Given the description of an element on the screen output the (x, y) to click on. 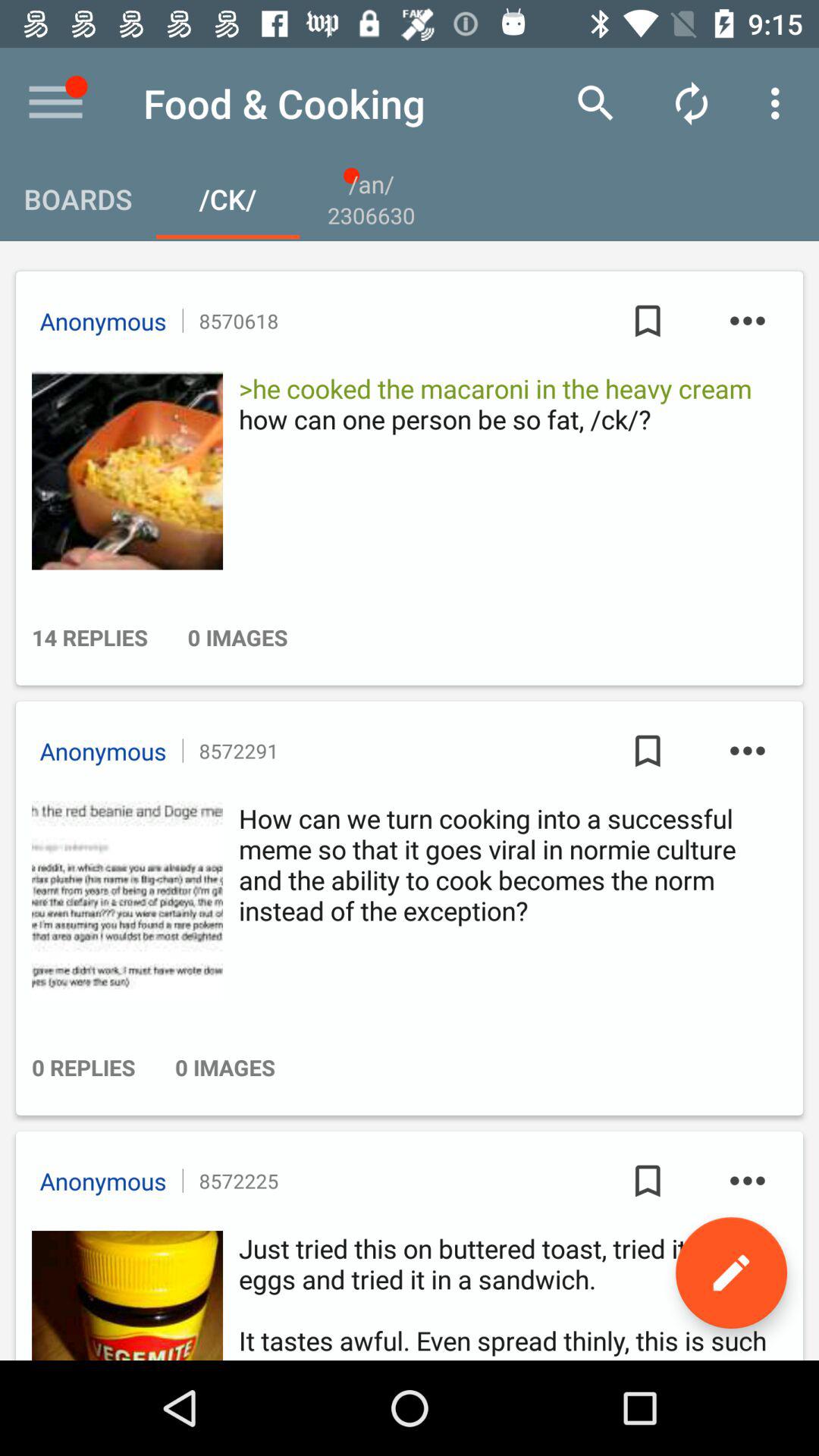
picture profile (122, 469)
